Given the description of an element on the screen output the (x, y) to click on. 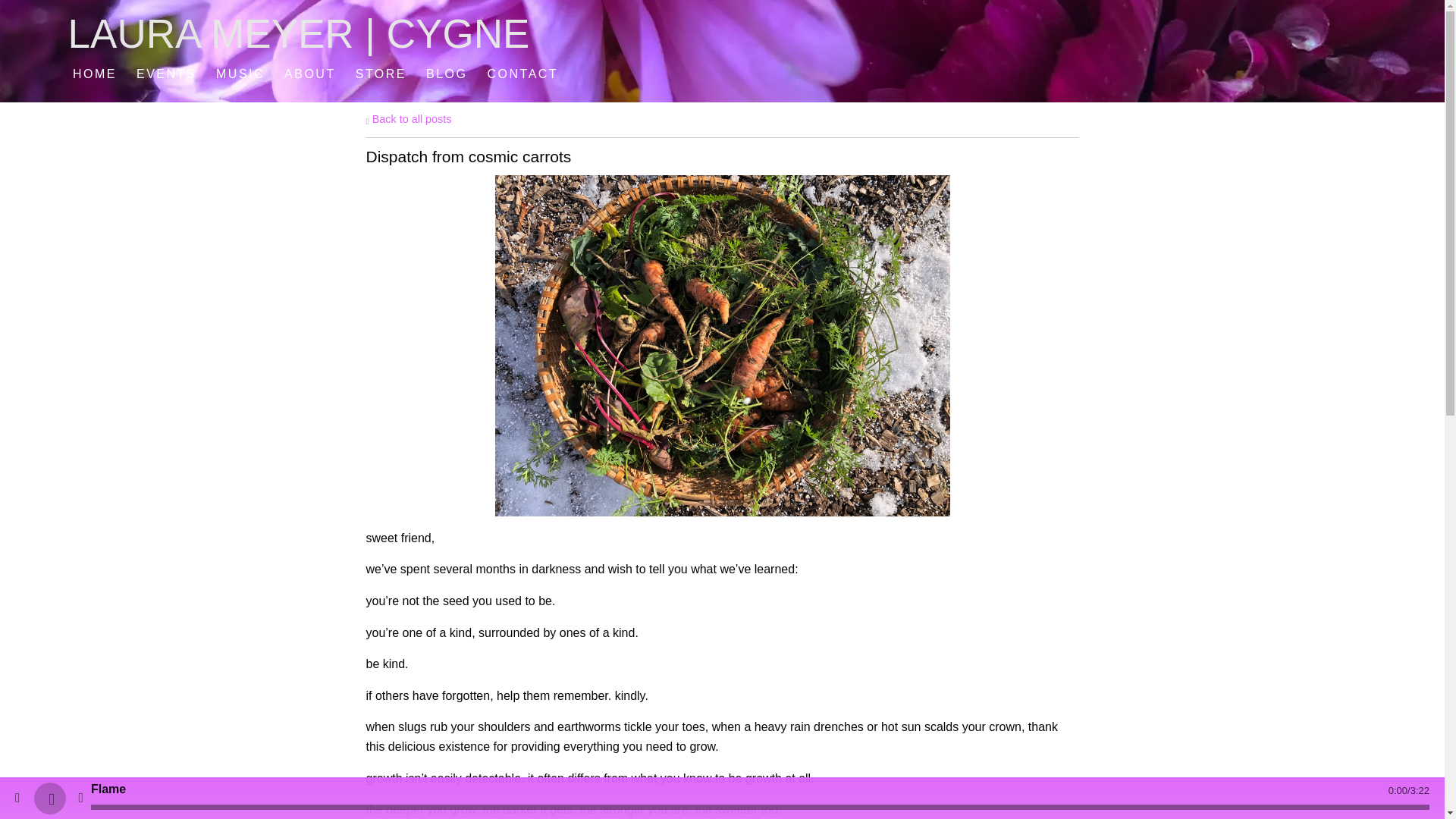
HOME (94, 73)
EVENTS (166, 73)
MUSIC (239, 73)
ABOUT (310, 73)
BLOG (446, 73)
STORE (380, 73)
Back to all posts (408, 119)
CONTACT (522, 73)
